Given the description of an element on the screen output the (x, y) to click on. 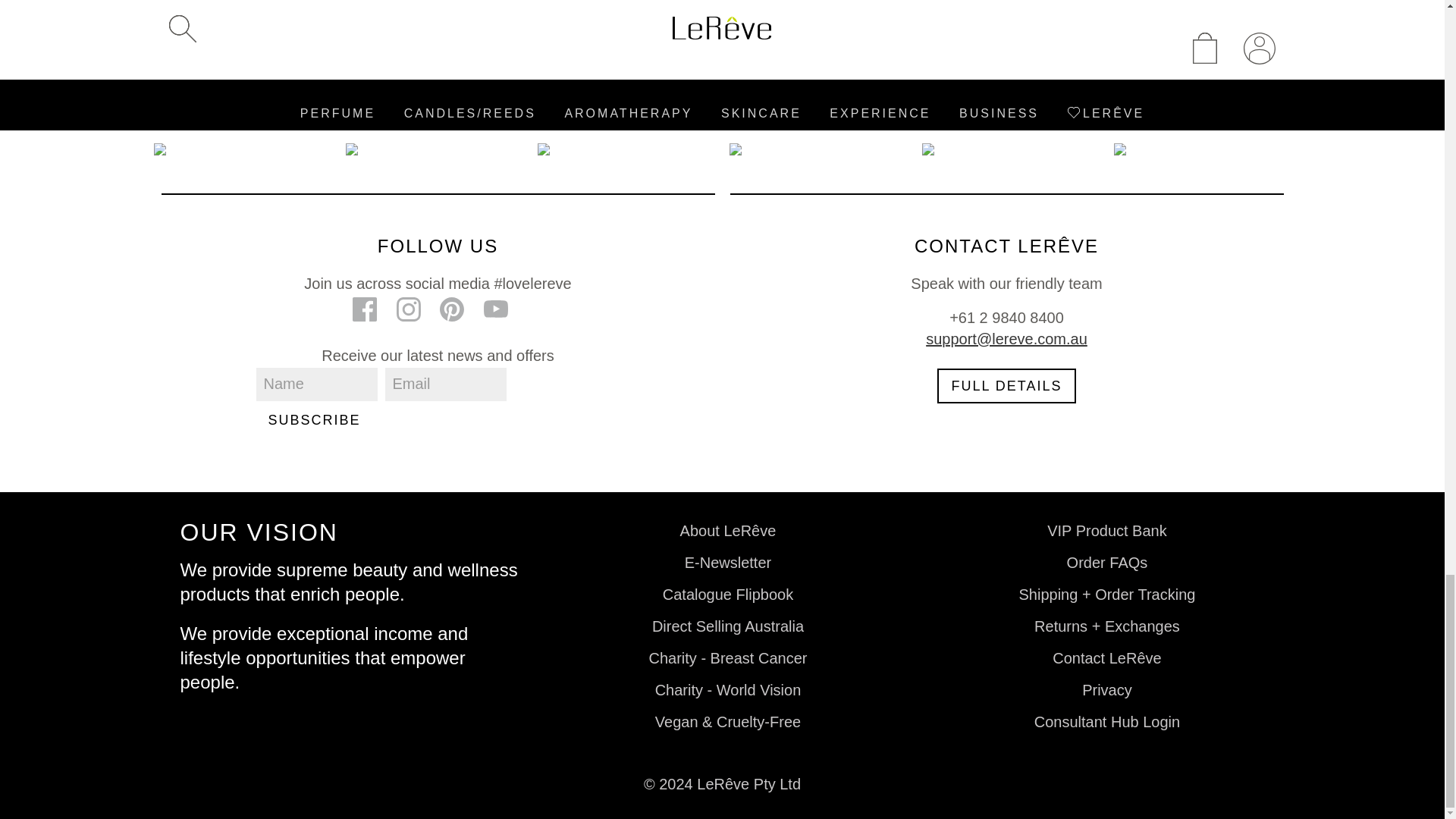
Subscribe (314, 419)
